Given the description of an element on the screen output the (x, y) to click on. 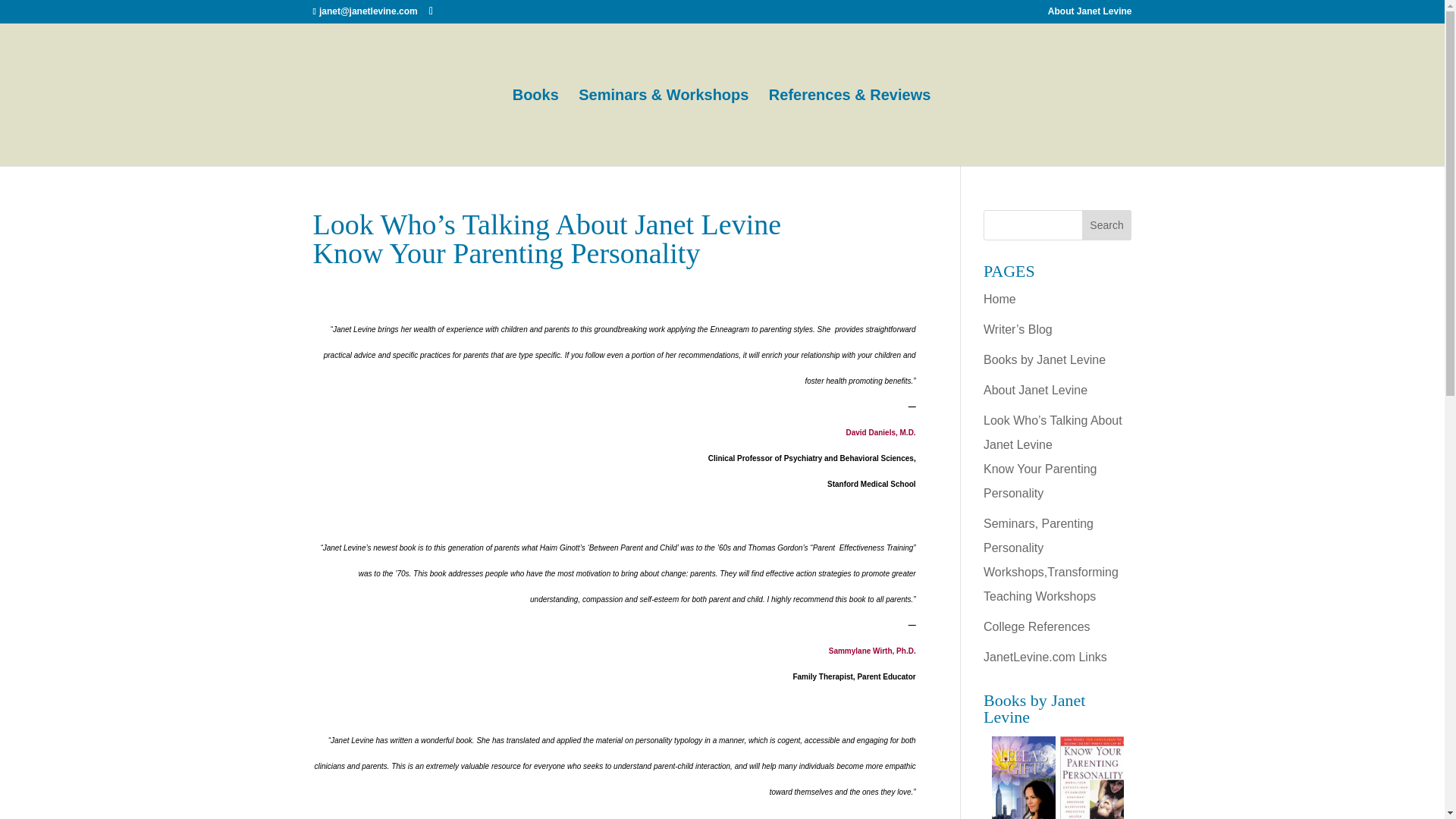
JanetLevine.com Links (1045, 656)
Search (1106, 224)
College References (1037, 626)
Home (1000, 298)
Books by Janet Levine (1044, 359)
Search (1106, 224)
About Janet Levine (1090, 14)
About Janet Levine (1035, 390)
